Given the description of an element on the screen output the (x, y) to click on. 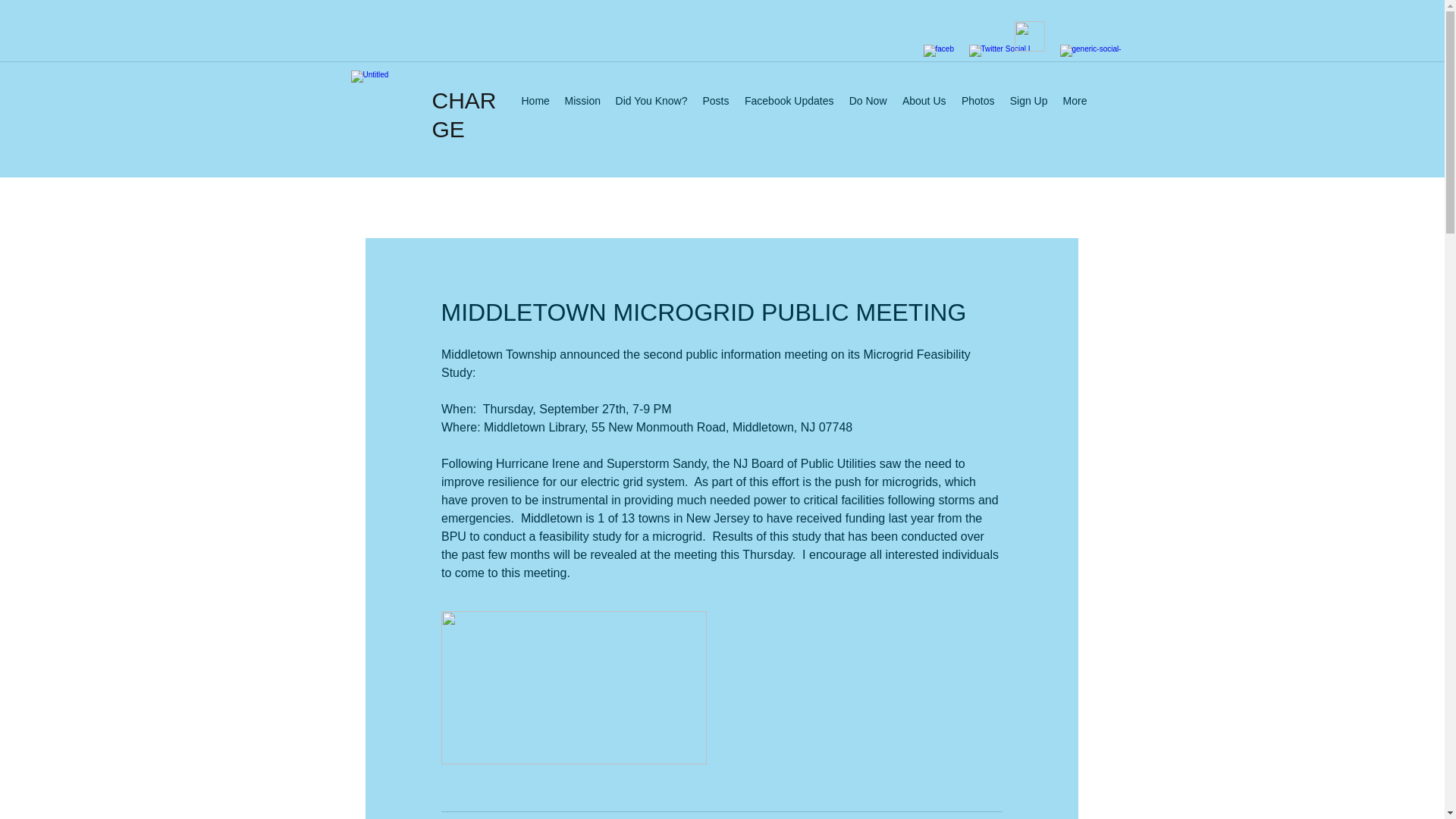
Facebook Updates (788, 101)
Home (535, 101)
Posts (715, 101)
Did You Know? (651, 101)
Mission (581, 101)
Photos (978, 101)
About Us (924, 101)
Do Now (868, 101)
Sign Up (1029, 101)
CHARGE (464, 114)
